Given the description of an element on the screen output the (x, y) to click on. 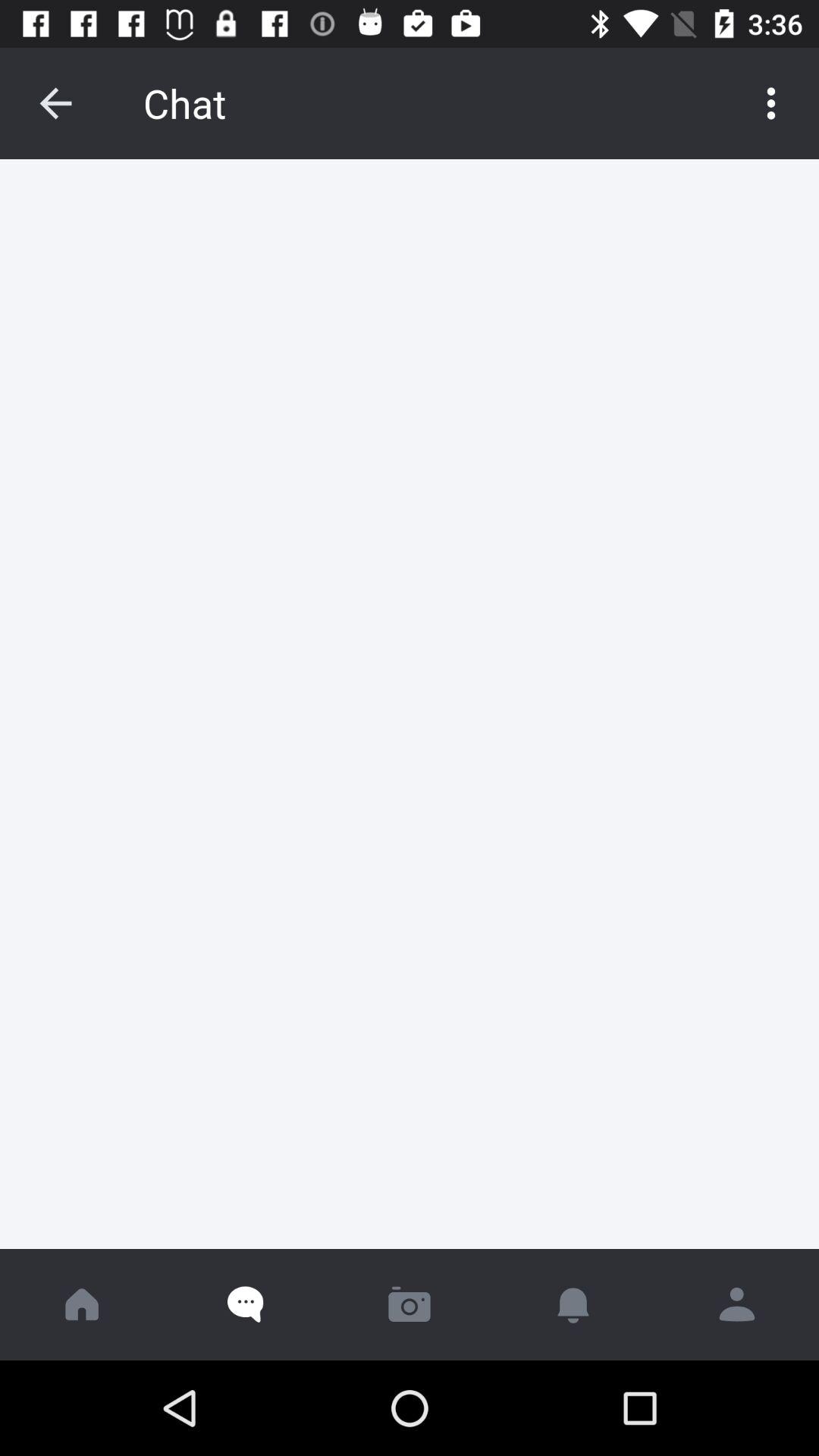
turn on the item next to the chat item (55, 103)
